Given the description of an element on the screen output the (x, y) to click on. 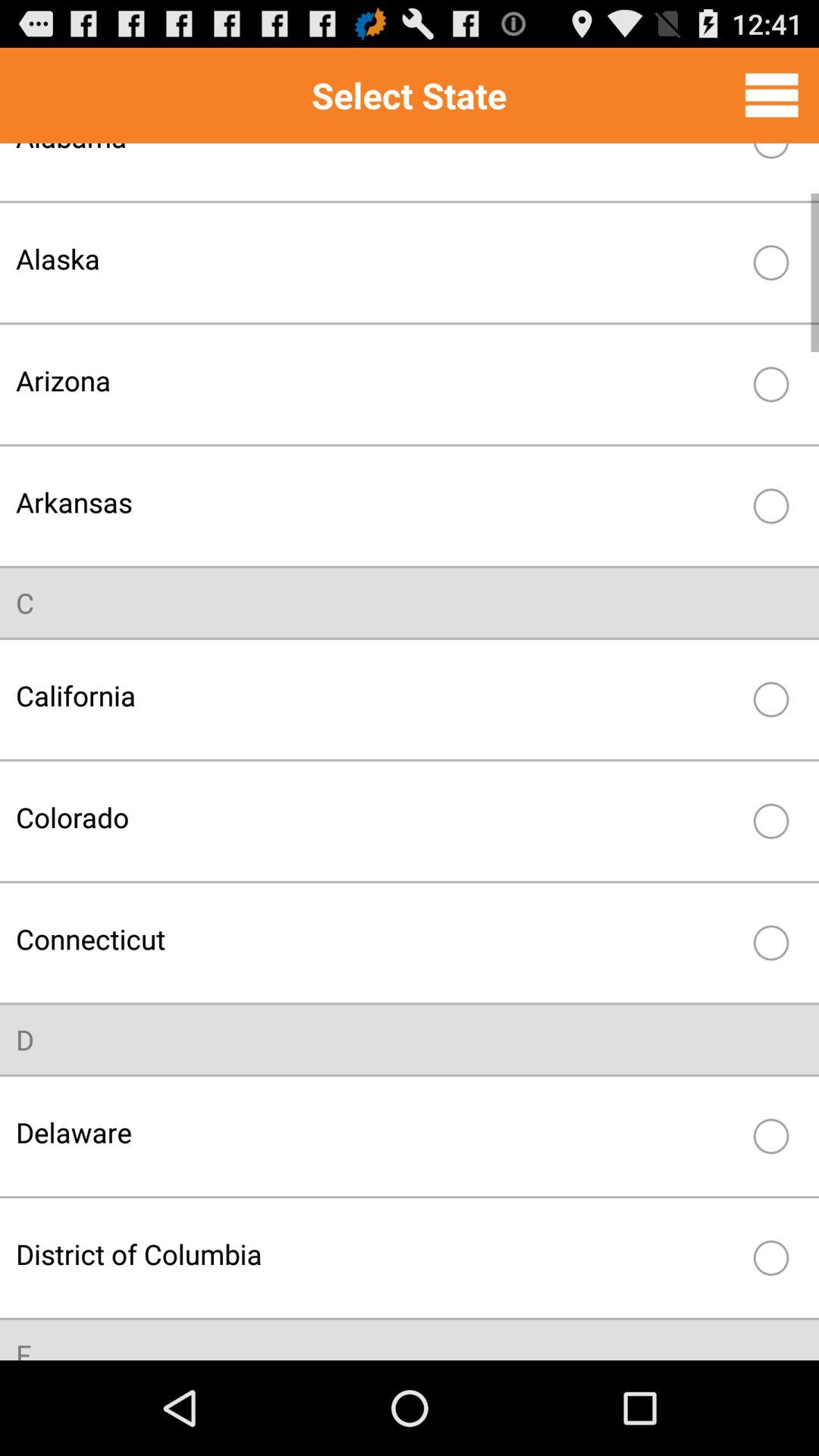
select the item above f (377, 1253)
